Given the description of an element on the screen output the (x, y) to click on. 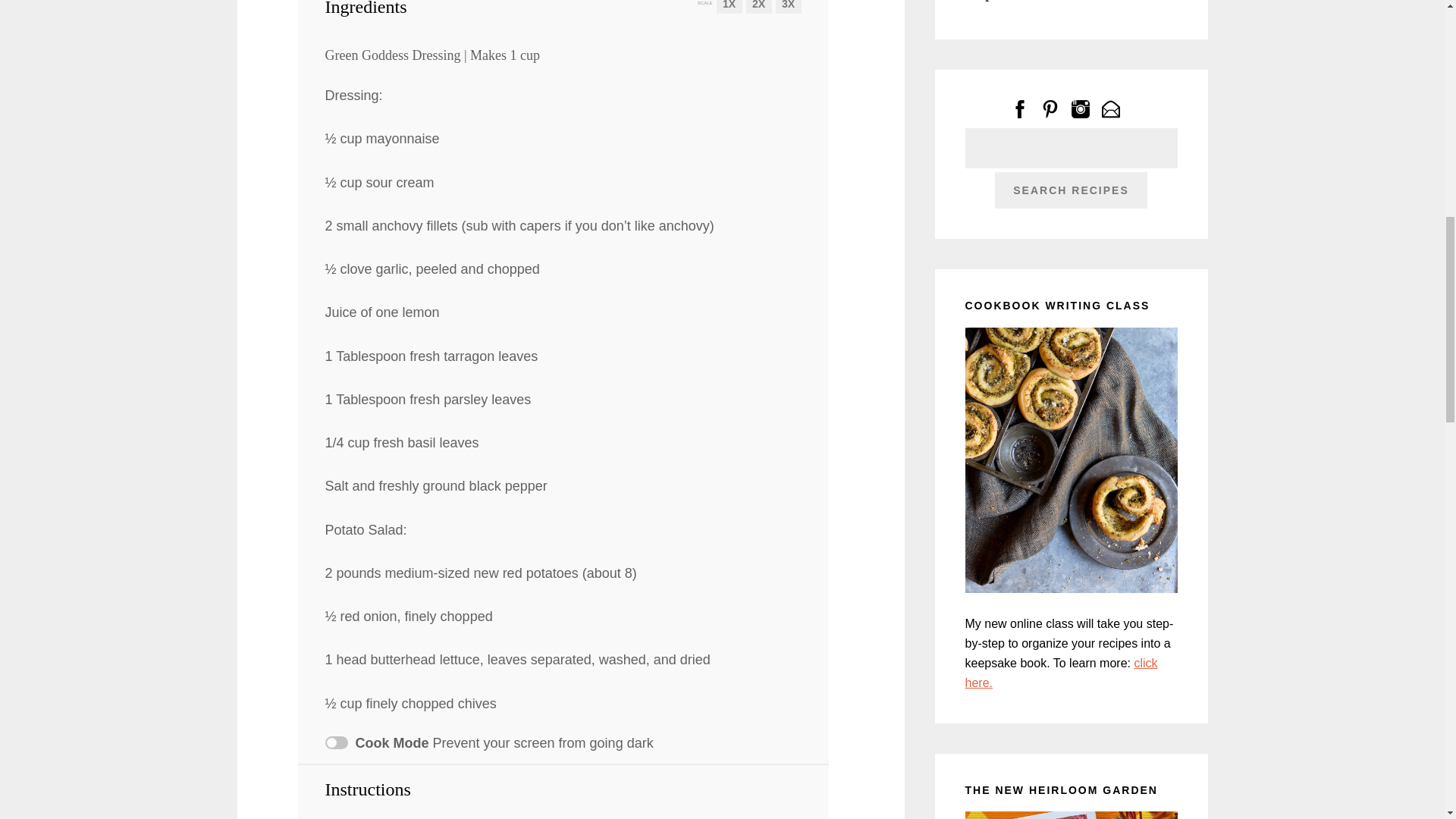
1X (728, 7)
Search Recipes (1070, 189)
2X (758, 7)
3X (787, 7)
